Given the description of an element on the screen output the (x, y) to click on. 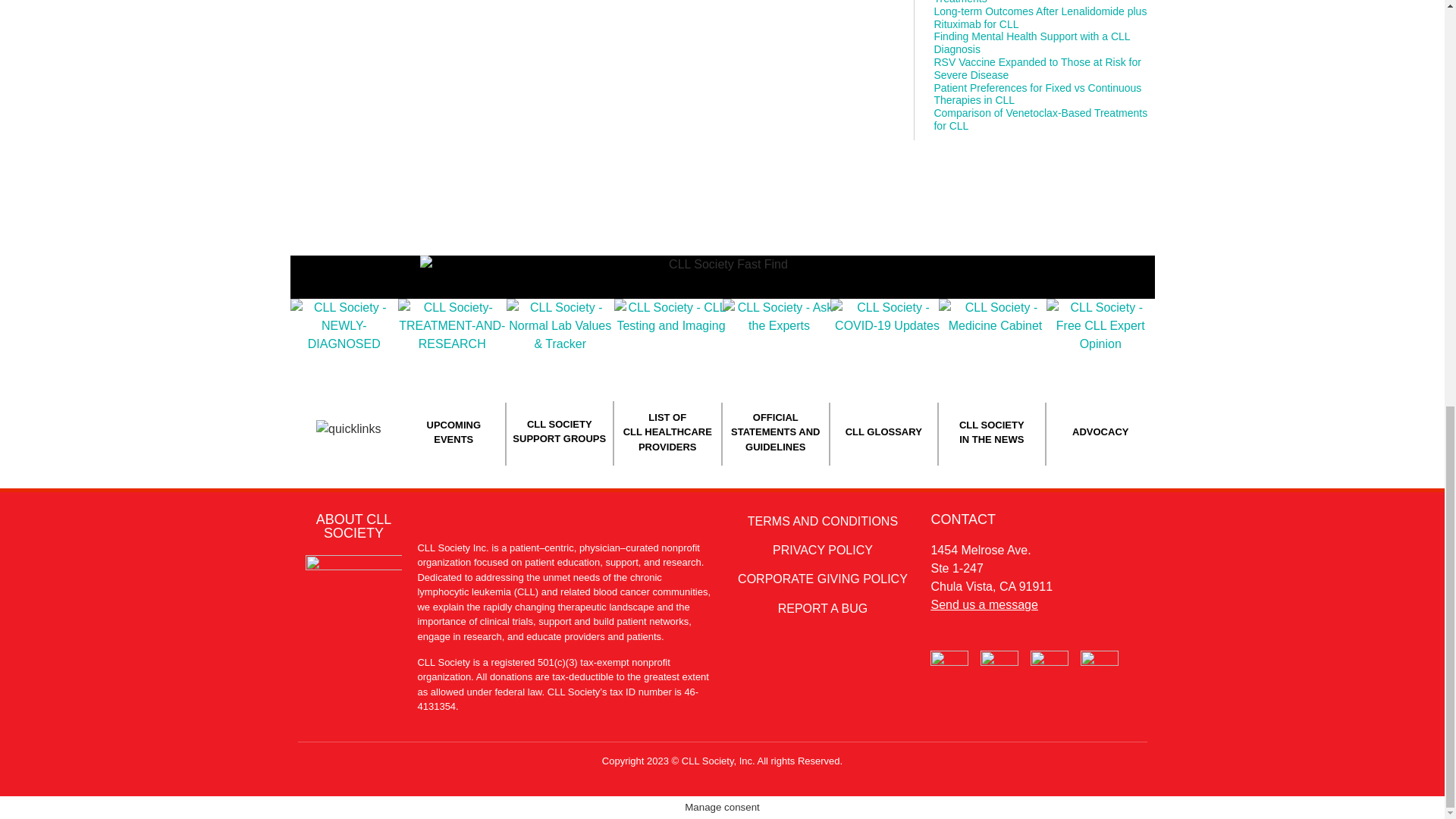
xFINAL Free CLL Expwert Opinion 107 (1100, 325)
quicklinks (347, 429)
xFINAL Treatment And Research 107 (451, 325)
